Given the description of an element on the screen output the (x, y) to click on. 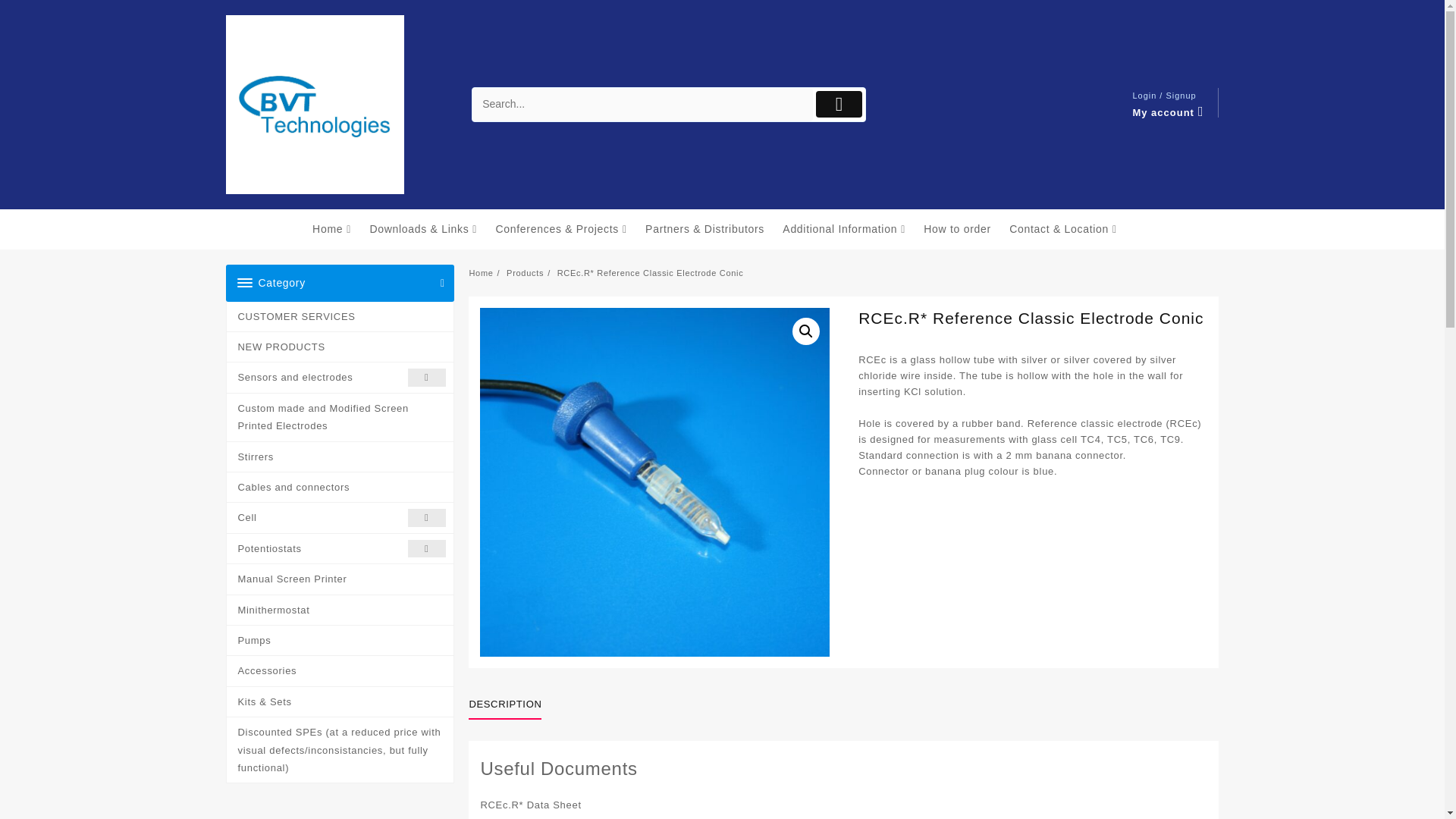
RCEc.RS.E (654, 481)
Home (339, 229)
Submit (838, 103)
Search (641, 104)
